Given the description of an element on the screen output the (x, y) to click on. 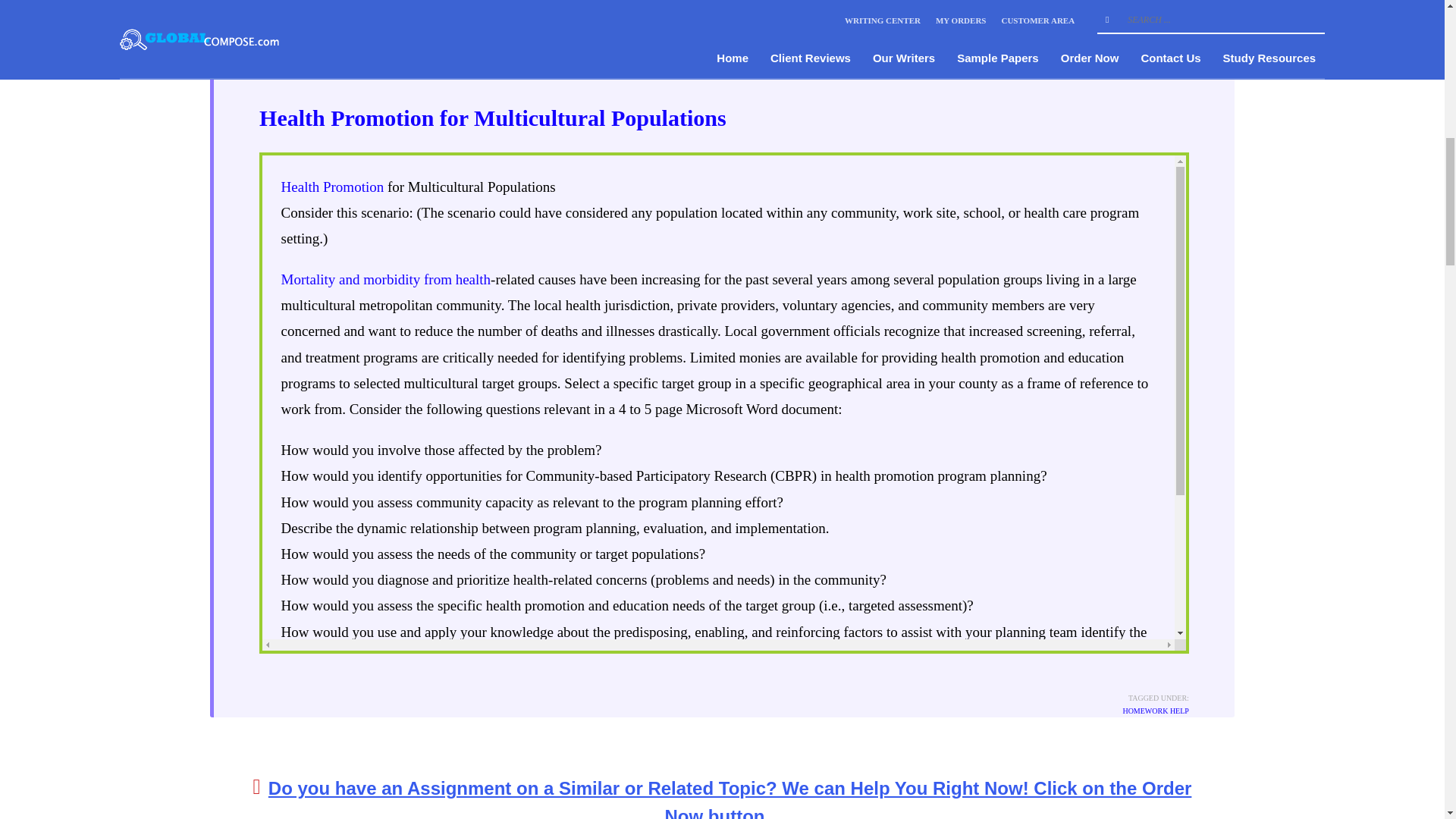
HOMEWORK HELP (463, 67)
health promotion (655, 734)
Health Promotion (332, 186)
Mortality and morbidity from health (386, 279)
HOMEWORK HELP (1155, 710)
